Given the description of an element on the screen output the (x, y) to click on. 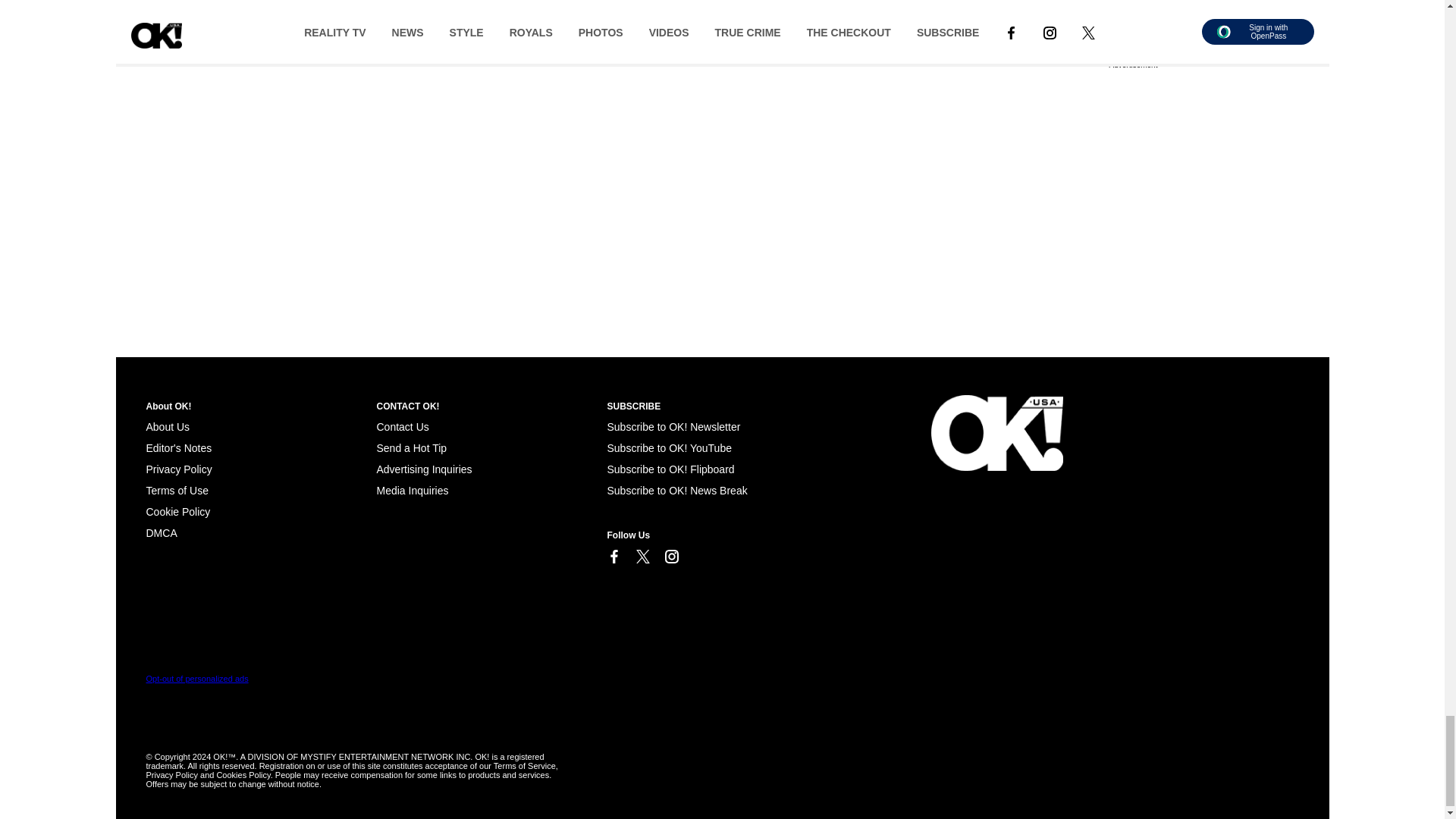
Cookie Policy (160, 532)
Link to Instagram (670, 556)
Link to Facebook (613, 556)
Terms of Use (176, 490)
About Us (167, 426)
Link to X (641, 556)
Privacy Policy (178, 469)
Cookie Policy (177, 511)
Editor's Notes (178, 448)
